Given the description of an element on the screen output the (x, y) to click on. 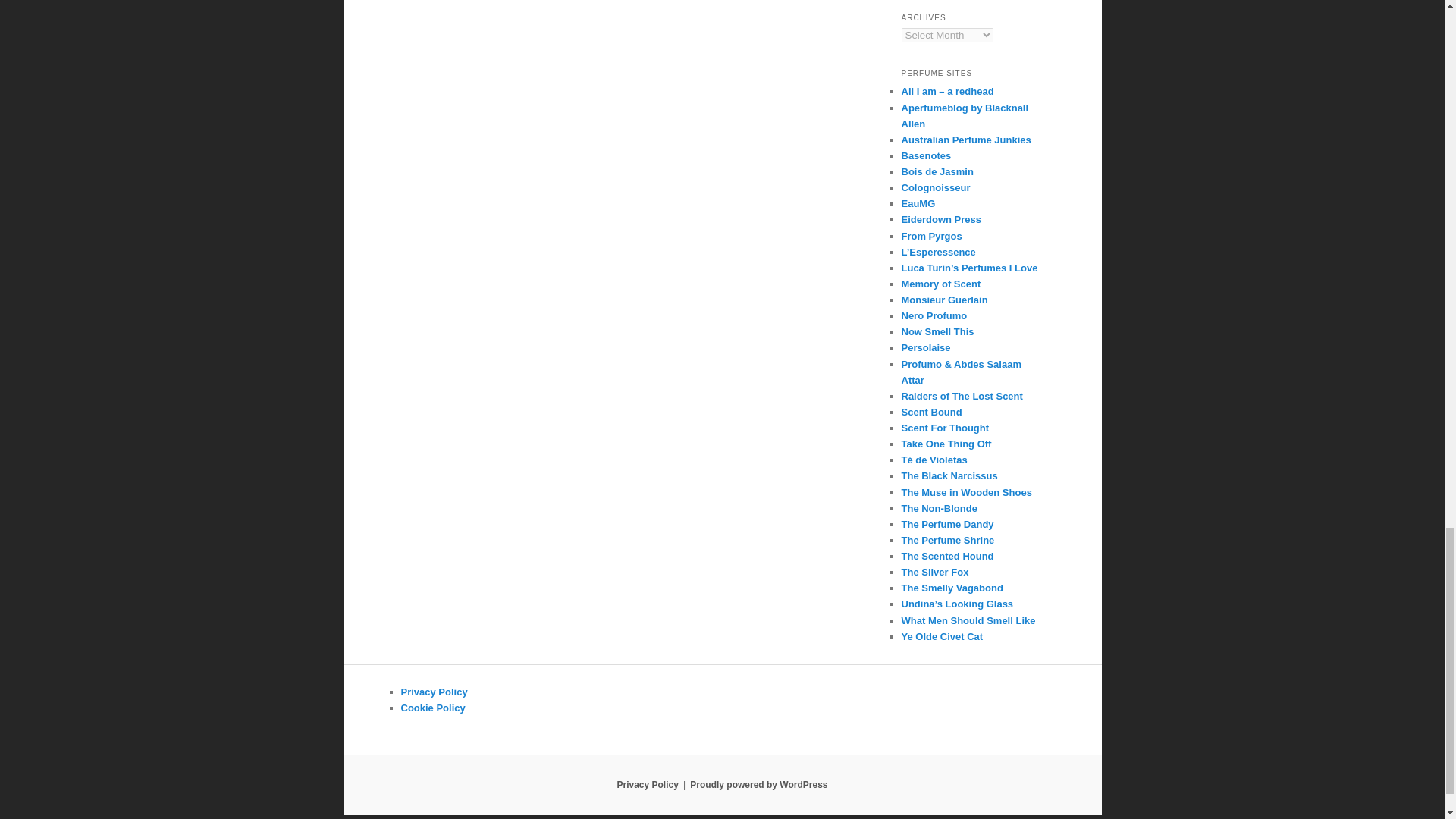
Semantic Personal Publishing Platform (758, 784)
